Given the description of an element on the screen output the (x, y) to click on. 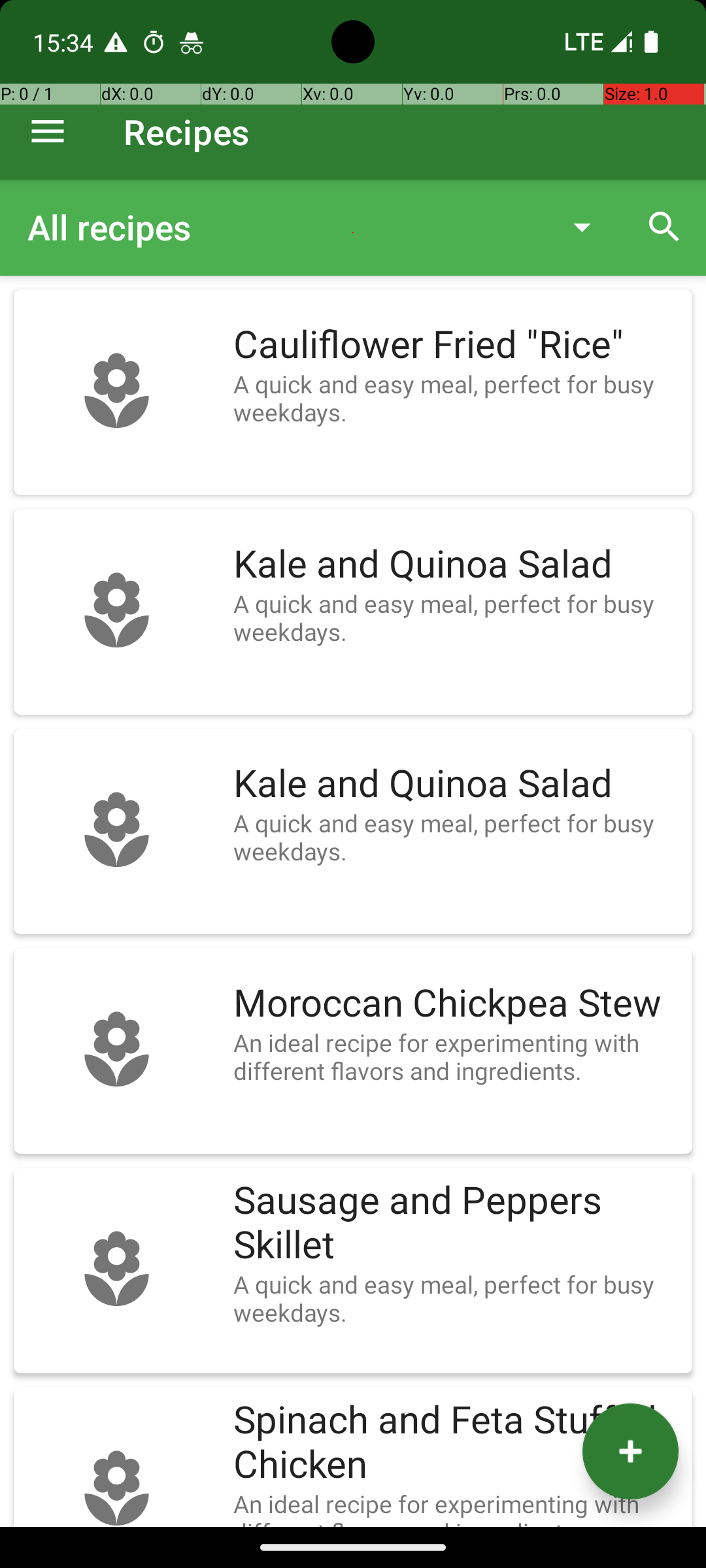
Sausage and Peppers Skillet Element type: android.widget.TextView (455, 1222)
Spinach and Feta Stuffed Chicken Element type: android.widget.TextView (455, 1442)
